Given the description of an element on the screen output the (x, y) to click on. 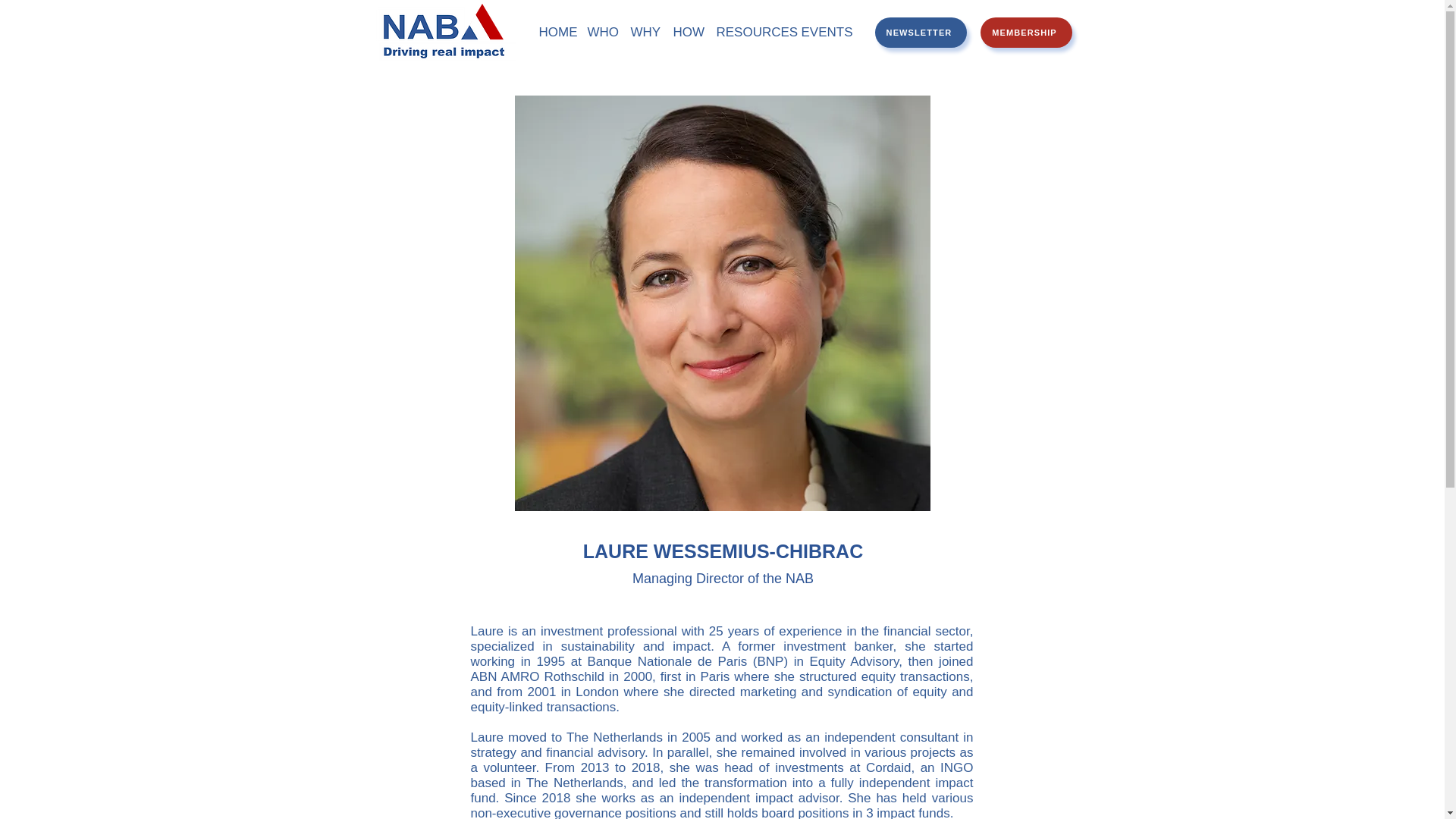
MEMBERSHIP (1025, 32)
HOME (555, 32)
NEWSLETTER (920, 32)
